Given the description of an element on the screen output the (x, y) to click on. 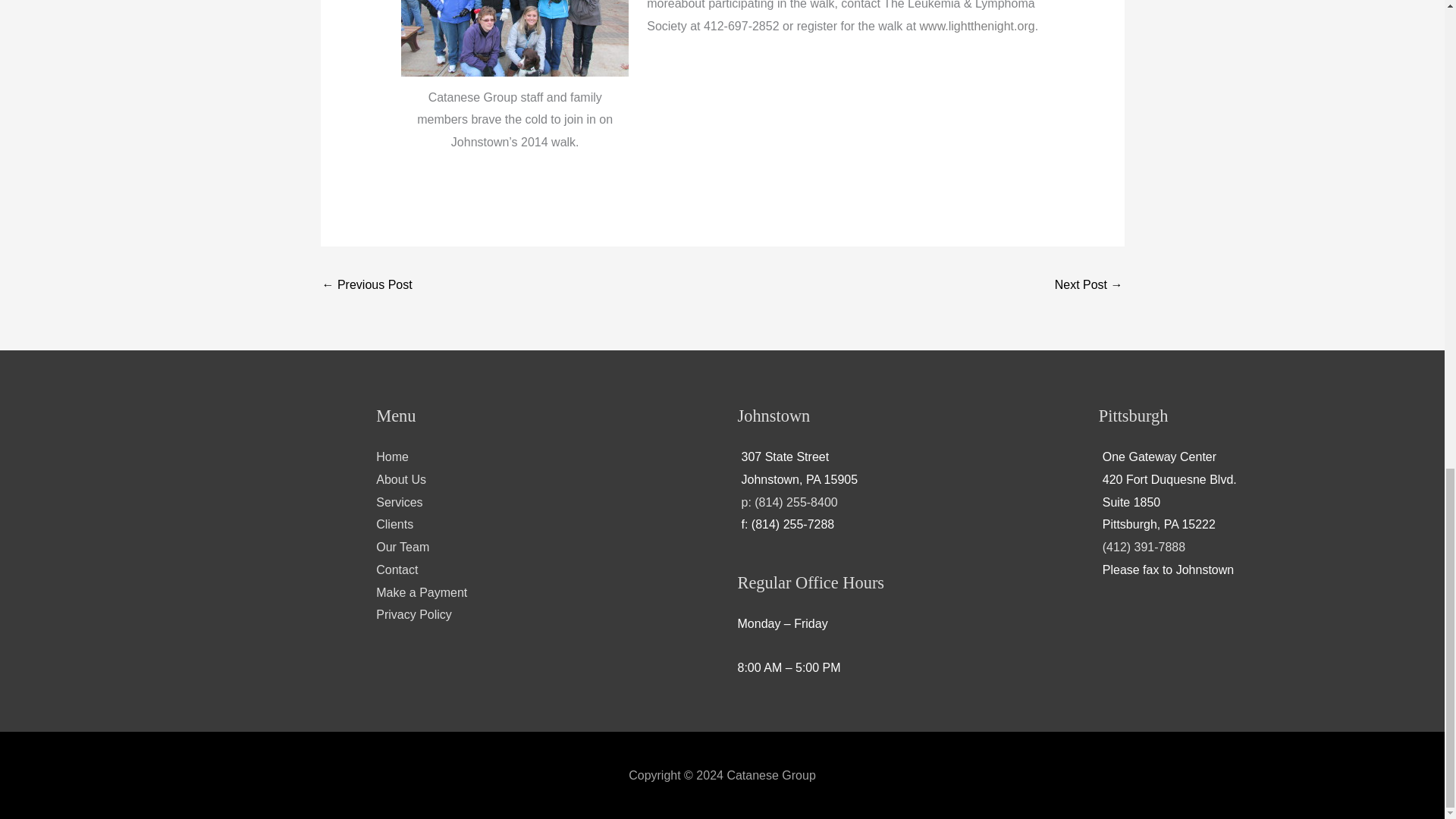
Two of Our Partners Attend Leading Partner Retreat (366, 285)
Light the Night Walk (977, 24)
Catanese Group Hires Three New Employees (1088, 285)
